Given the description of an element on the screen output the (x, y) to click on. 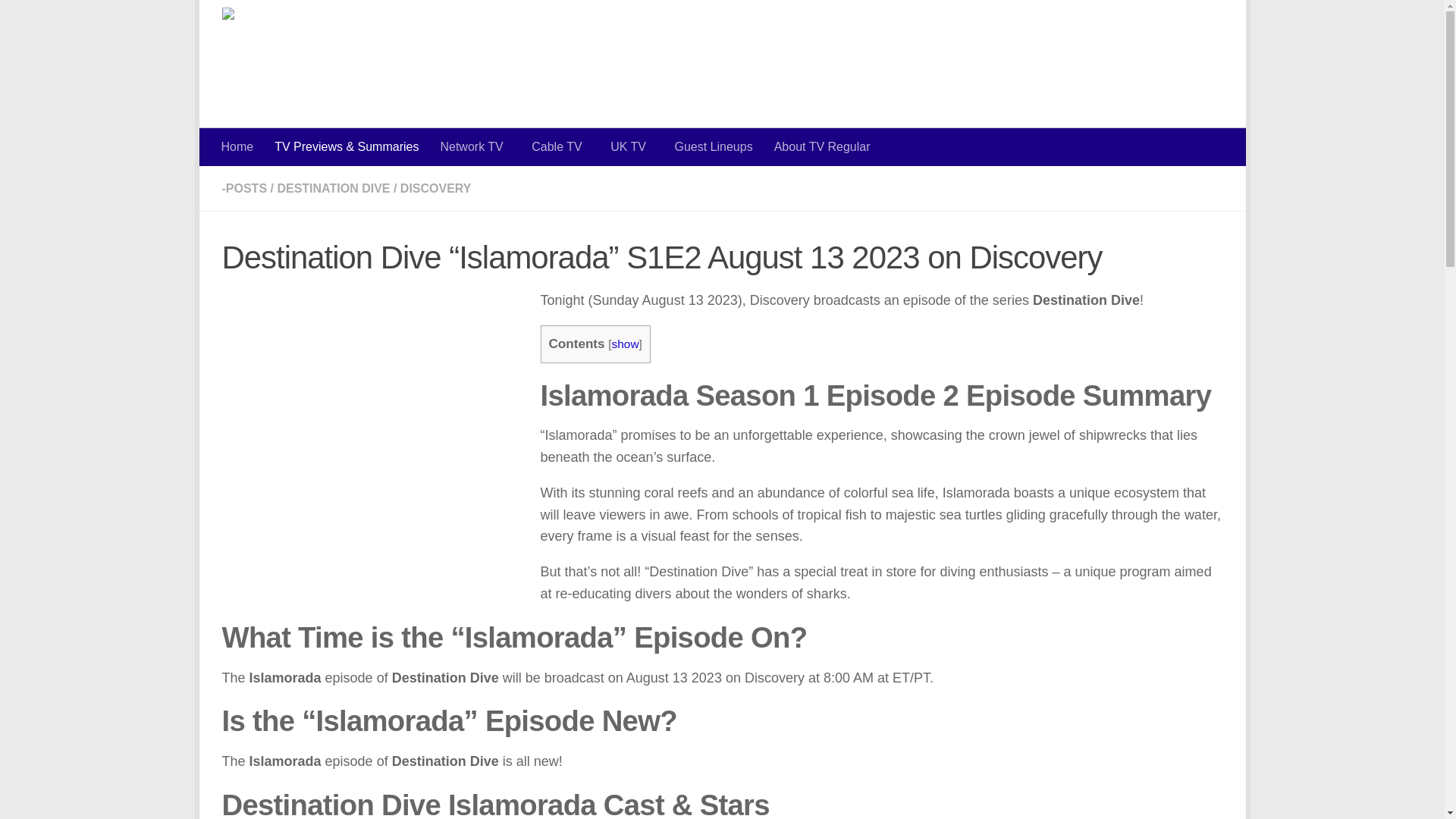
Advertisement (946, 60)
Skip to content (263, 20)
